Given the description of an element on the screen output the (x, y) to click on. 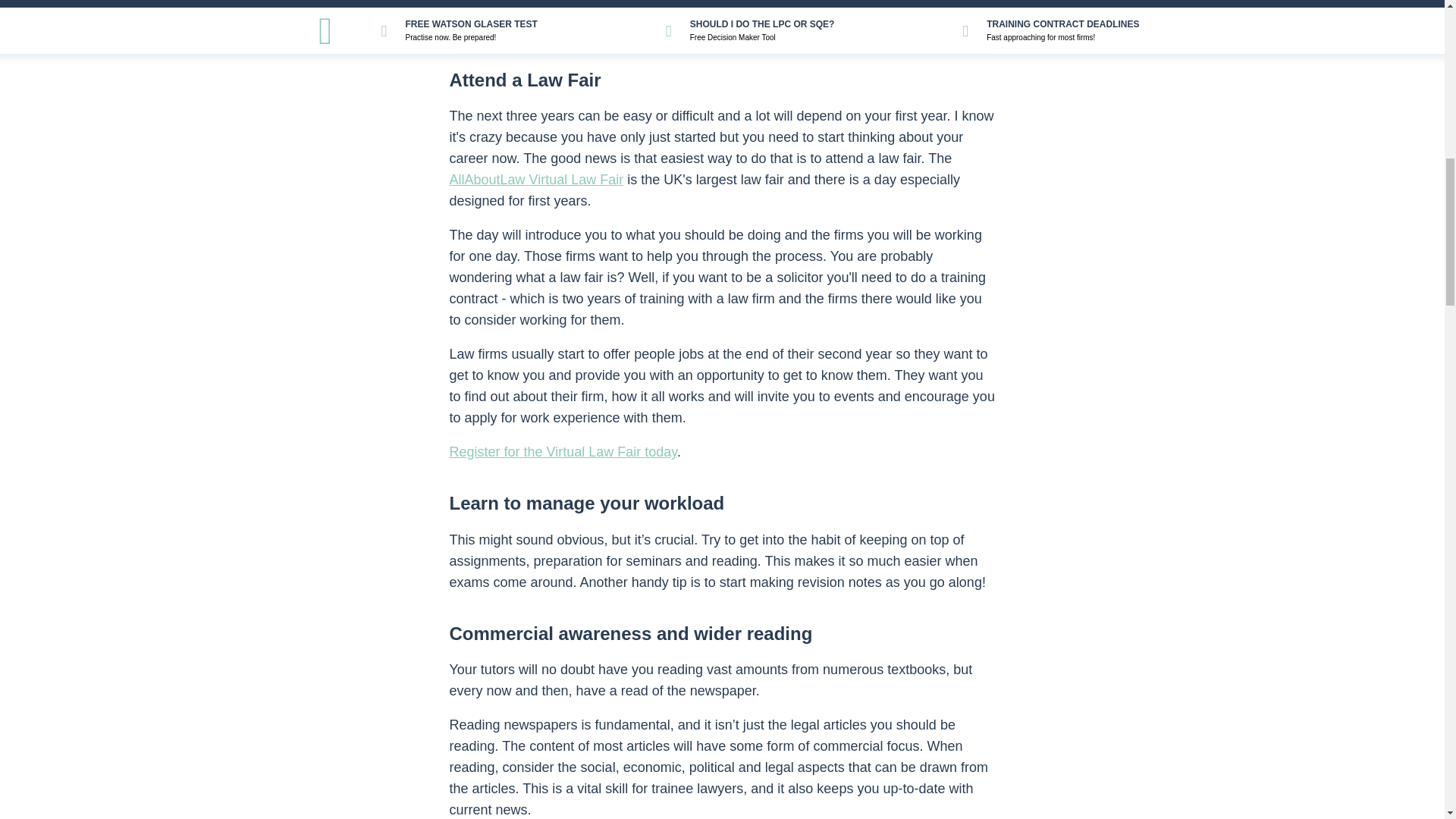
Experience is key for any aspiring lawyer (721, 8)
AllAboutLaw Virtual Law Fair (535, 179)
Register for the Virtual Law Fair today (562, 451)
